Given the description of an element on the screen output the (x, y) to click on. 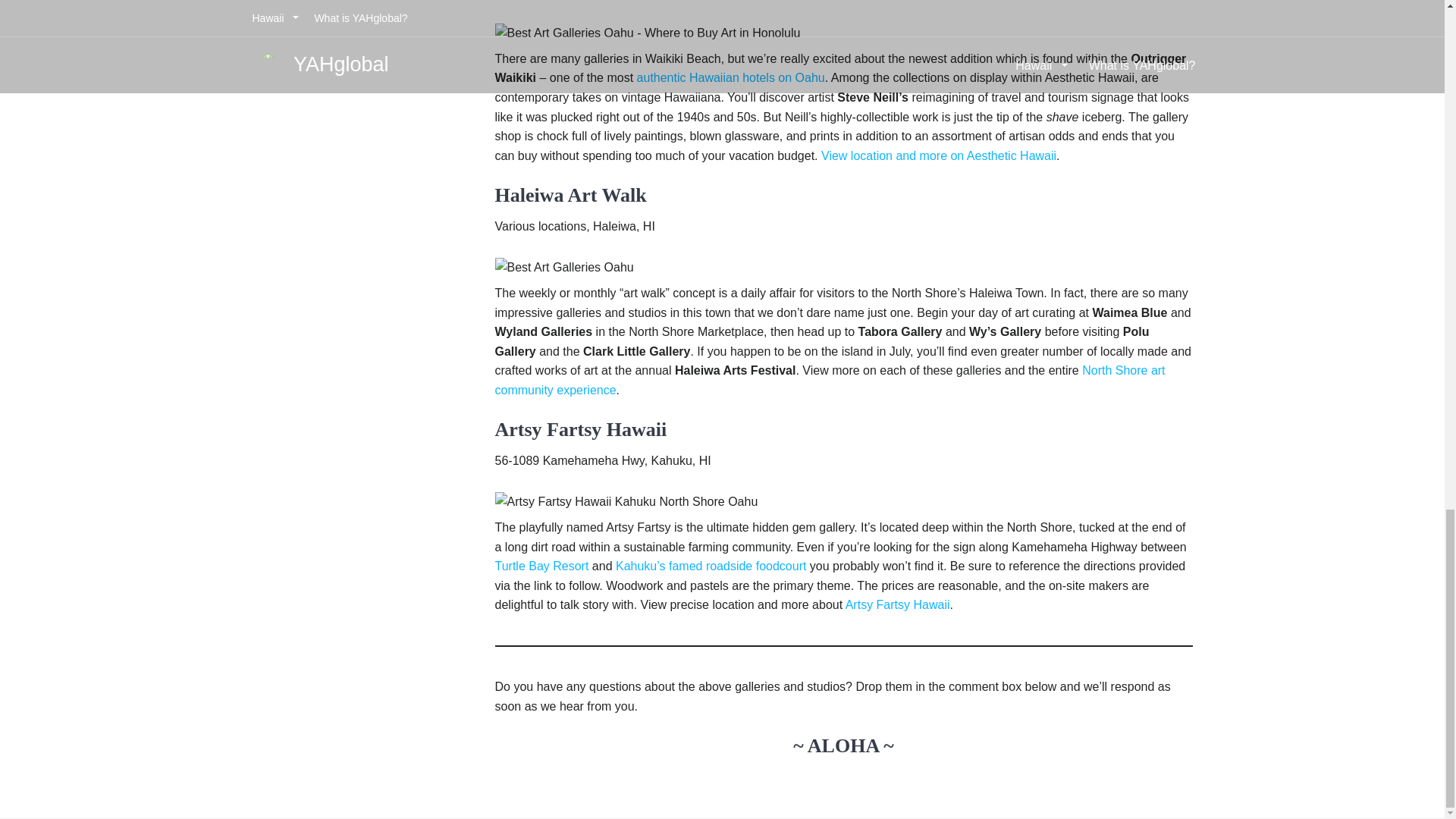
Artsy Fartsy Hawaii (897, 604)
authentic Hawaiian hotels on Oahu (731, 77)
View location and more on Aesthetic Hawaii (939, 155)
Turtle Bay Resort (541, 565)
North Shore art community experience (829, 379)
